Given the description of an element on the screen output the (x, y) to click on. 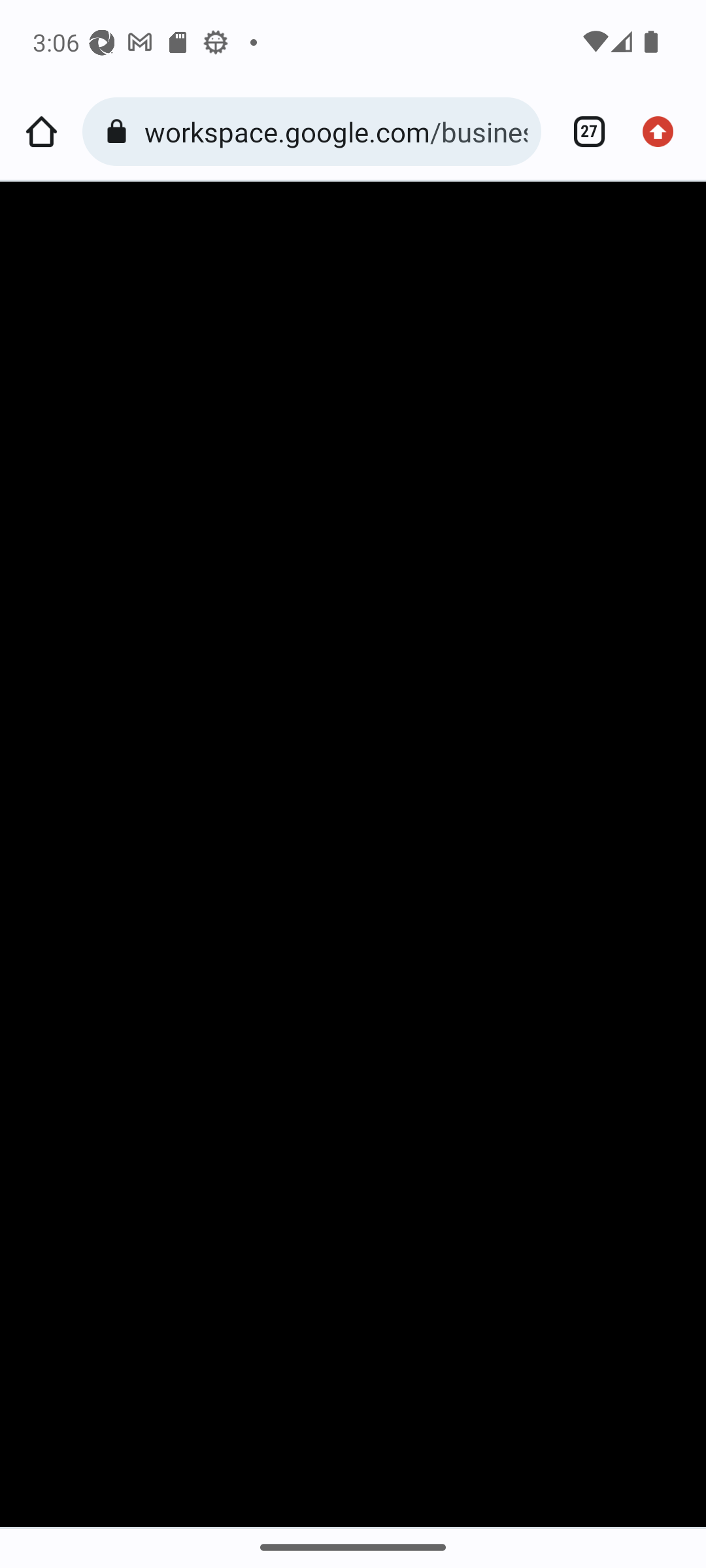
Home (41, 131)
Connection is secure (120, 131)
Switch or close tabs (582, 131)
Update available. More options (664, 131)
